Given the description of an element on the screen output the (x, y) to click on. 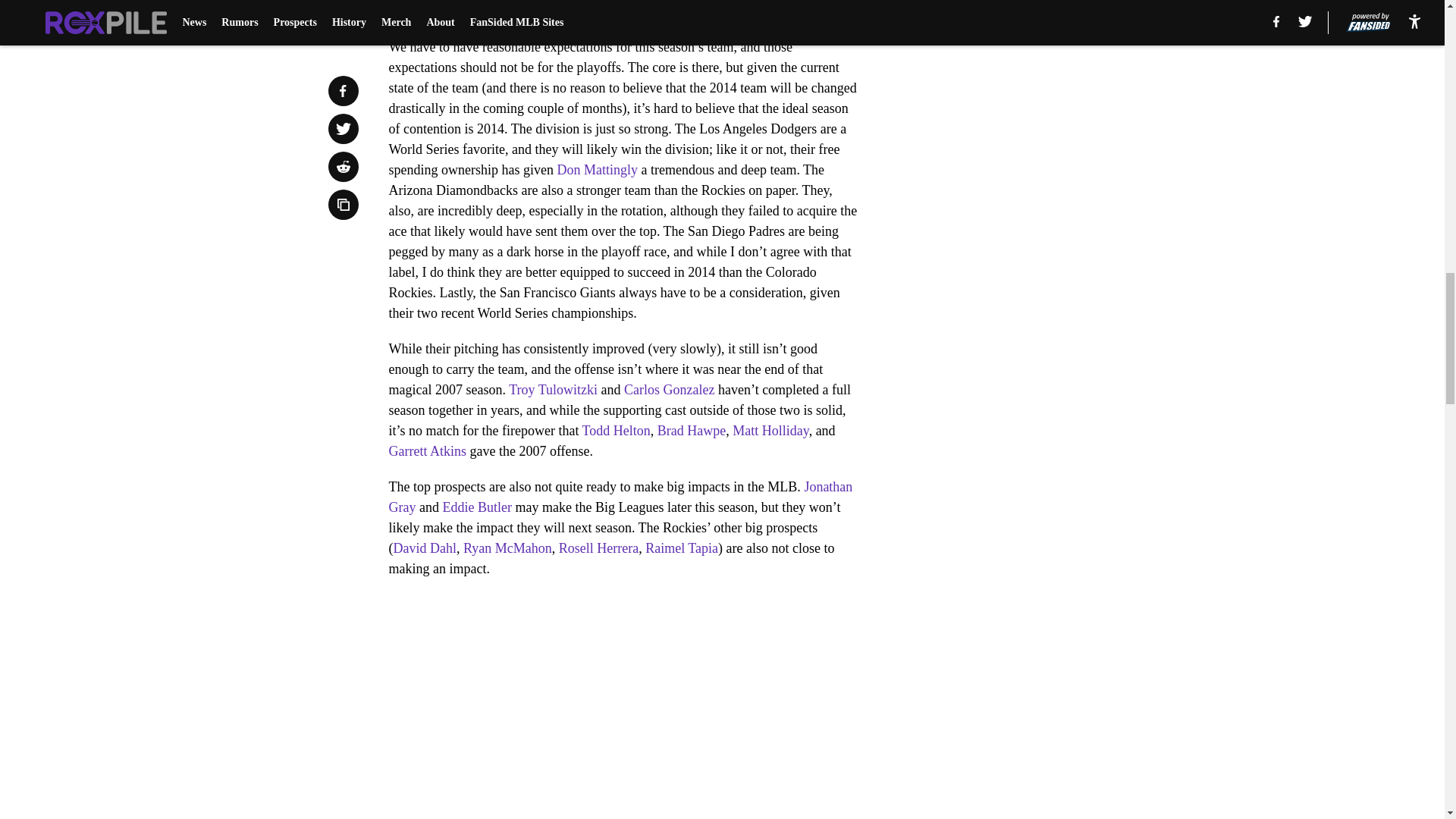
Carlos Gonzalez (669, 389)
Raimel Tapia (681, 548)
Garrett Atkins (426, 450)
Don Mattingly (596, 169)
Brad Hawpe (691, 430)
Rosell Herrera (599, 548)
Jonathan Gray (619, 497)
Troy Tulowitzki (552, 389)
Ryan McMahon (507, 548)
Matt Holliday (770, 430)
